Given the description of an element on the screen output the (x, y) to click on. 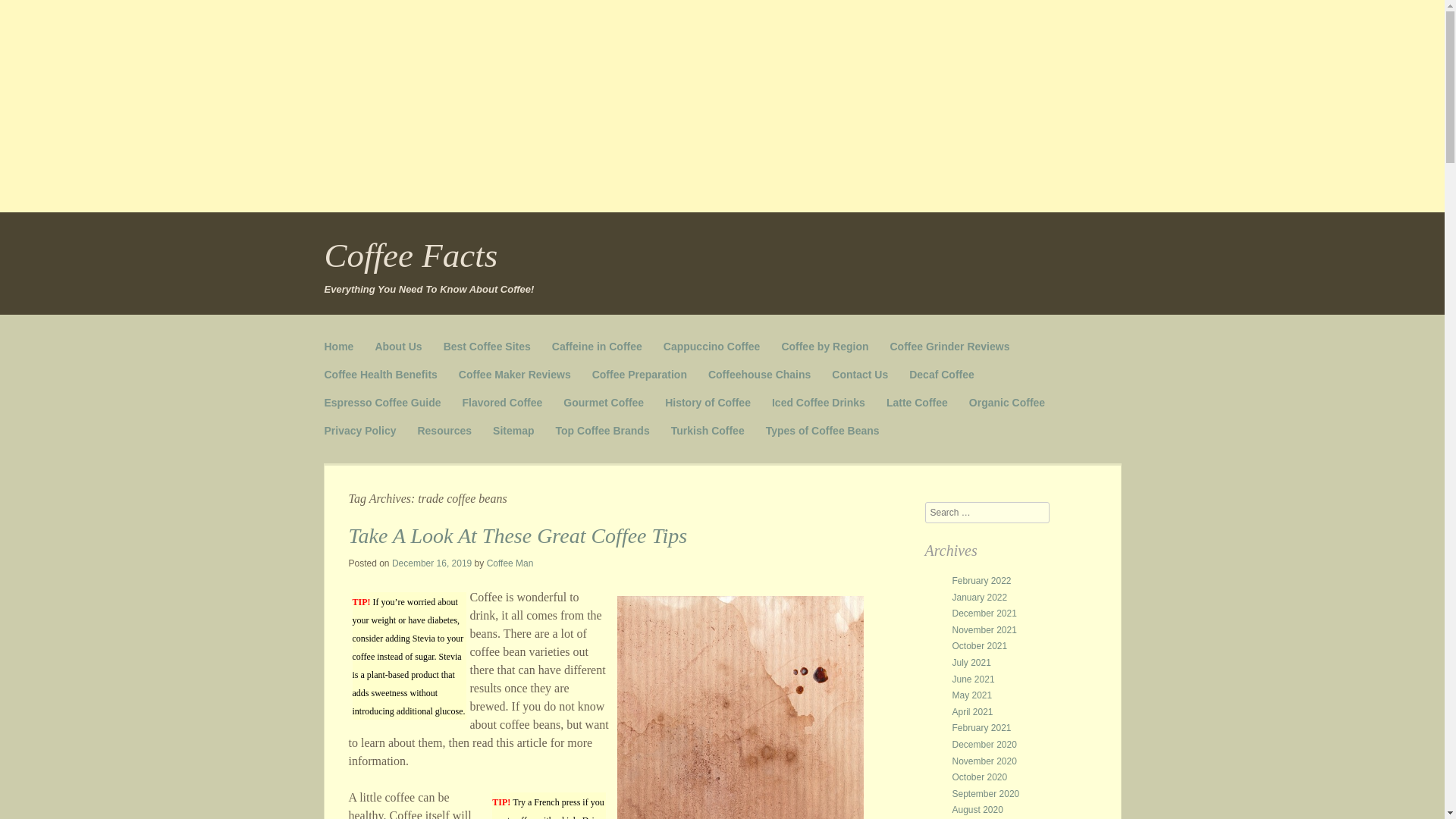
Skip to content (362, 340)
About Us (398, 346)
12:51 am (431, 562)
Best Coffee Sites (487, 346)
Coffee by Region (823, 346)
Permalink (518, 535)
Coffee Facts (410, 255)
Home (338, 346)
View all posts by Coffee Man (510, 562)
Caffeine in Coffee (596, 346)
